Given the description of an element on the screen output the (x, y) to click on. 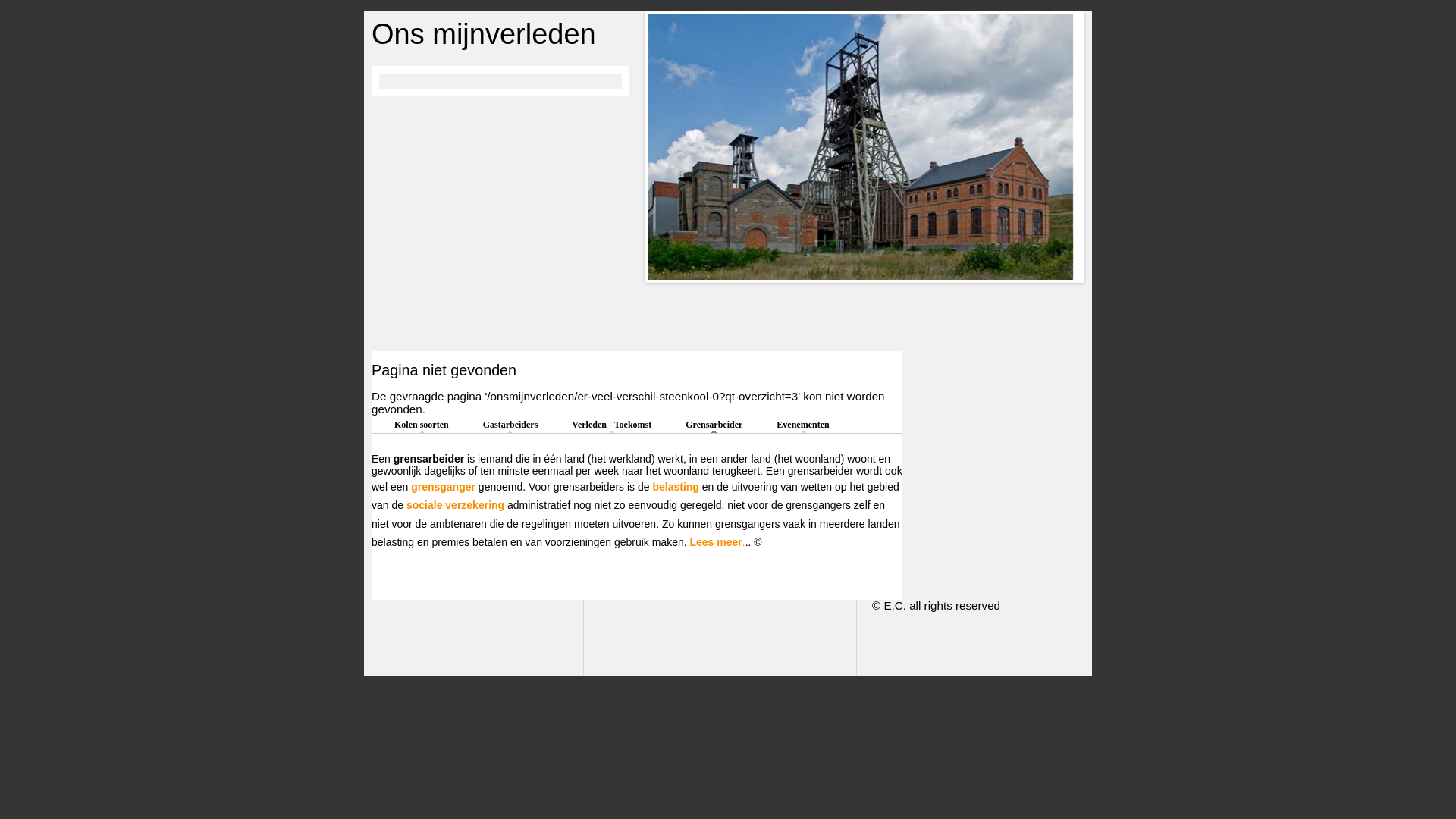
Grensarbeider
(actieve tabblad) Element type: text (713, 424)
  Element type: text (505, 504)
. Element type: text (743, 542)
Evenementen Element type: text (802, 424)
Kolen soorten Element type: text (421, 424)
sociale verzekering Element type: text (455, 504)
grensganger Element type: text (443, 486)
Verleden - Toekomst Element type: text (611, 424)
Lees meer Element type: text (716, 542)
Gastarbeiders Element type: text (510, 424)
belasting Element type: text (675, 486)
